Given the description of an element on the screen output the (x, y) to click on. 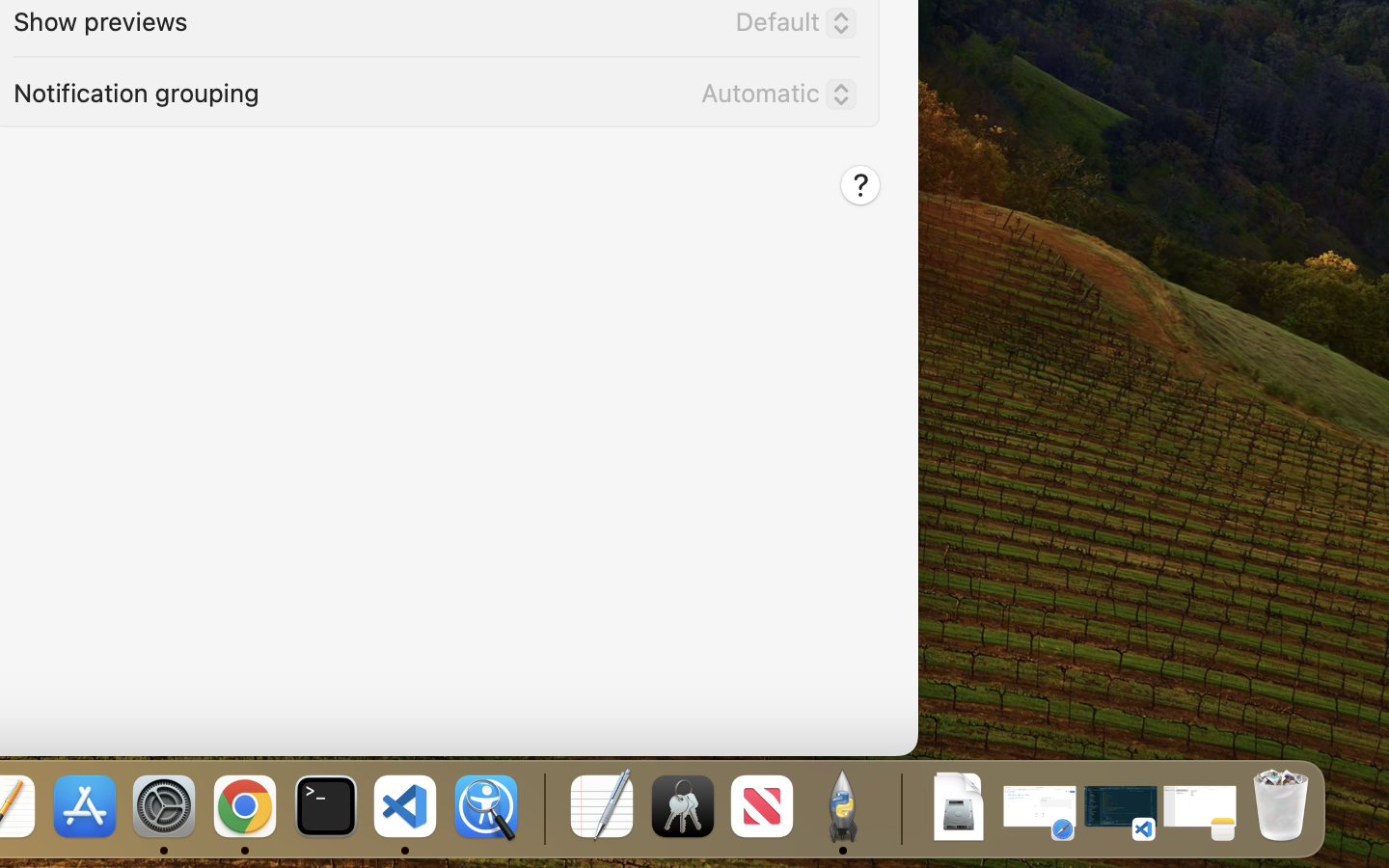
Notification grouping Element type: AXStaticText (135, 90)
Default Element type: AXPopUpButton (788, 25)
Automatic Element type: AXPopUpButton (770, 97)
0.4285714328289032 Element type: AXDockItem (541, 807)
Show previews Element type: AXStaticText (100, 18)
